Given the description of an element on the screen output the (x, y) to click on. 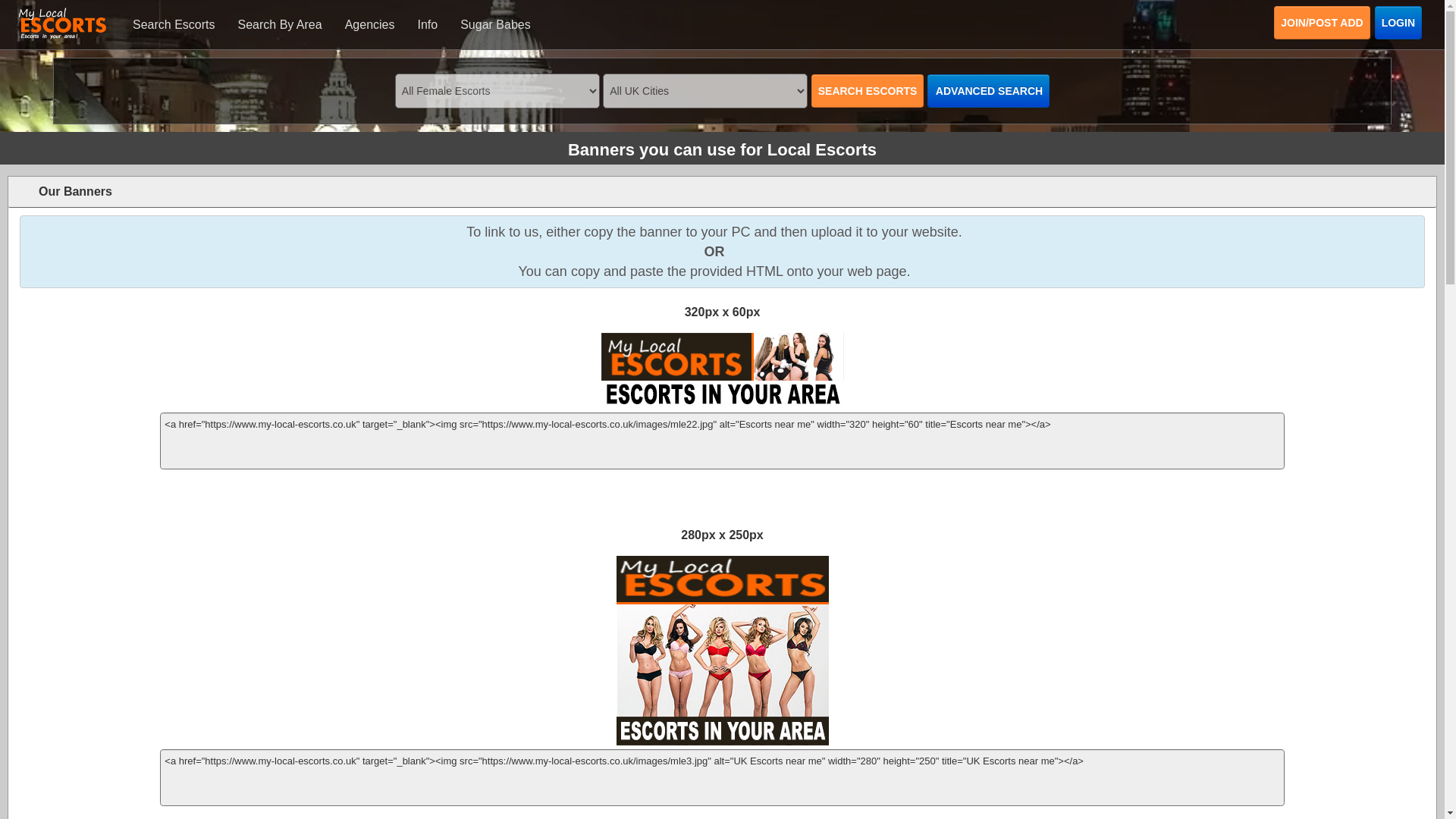
ADVANCED SEARCH (988, 90)
SEARCH ESCORTS (867, 90)
Sugar Babes (494, 24)
Info (427, 24)
Agencies (369, 24)
LOGIN (1398, 22)
Search By Area (279, 24)
Search Escorts (172, 24)
